Given the description of an element on the screen output the (x, y) to click on. 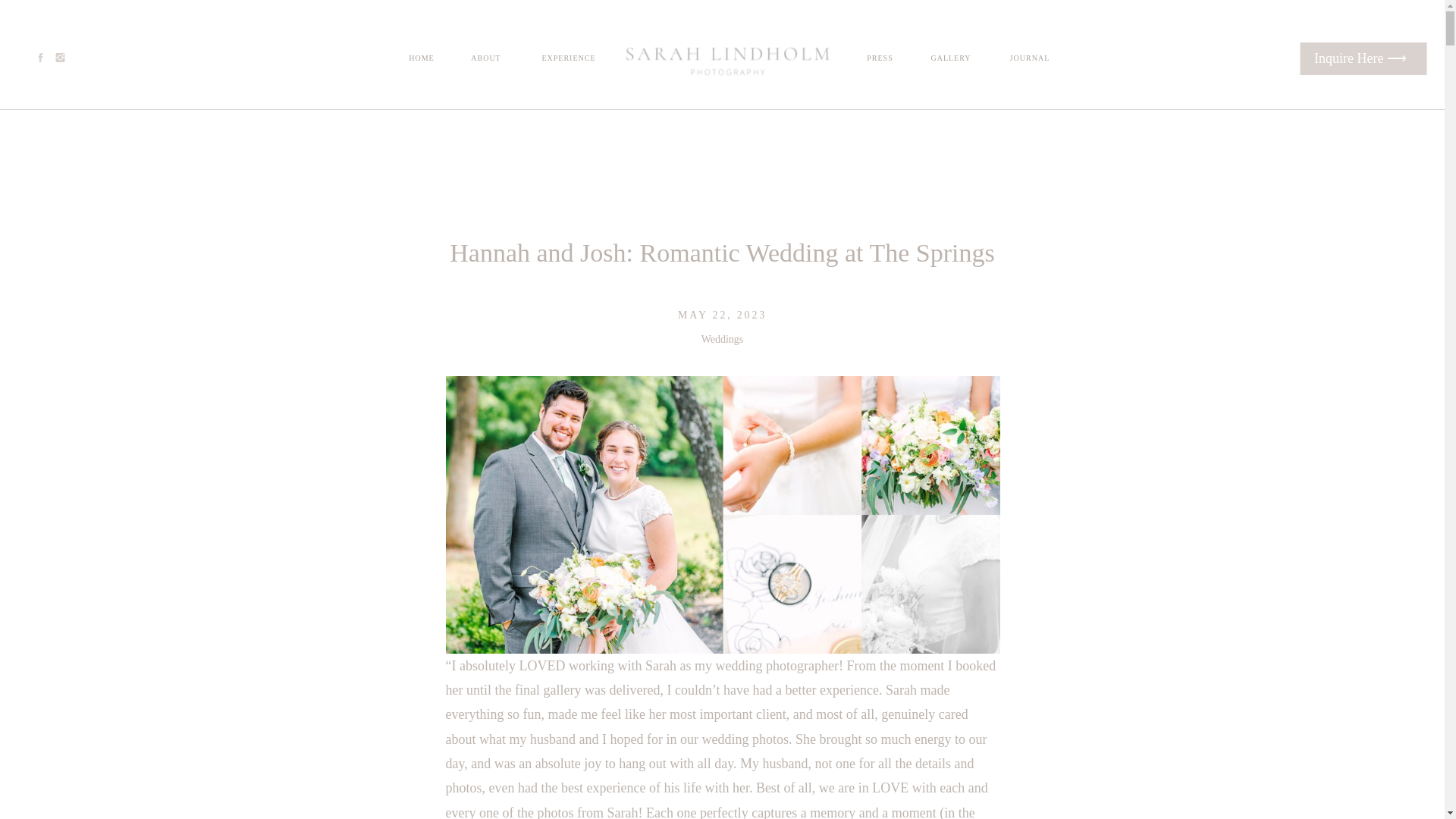
GALLERY (950, 59)
ABOUT (485, 59)
HOME (421, 59)
EXPERIENCE (568, 59)
Weddings (722, 338)
JOURNAL (1030, 59)
PRESS (879, 59)
